Given the description of an element on the screen output the (x, y) to click on. 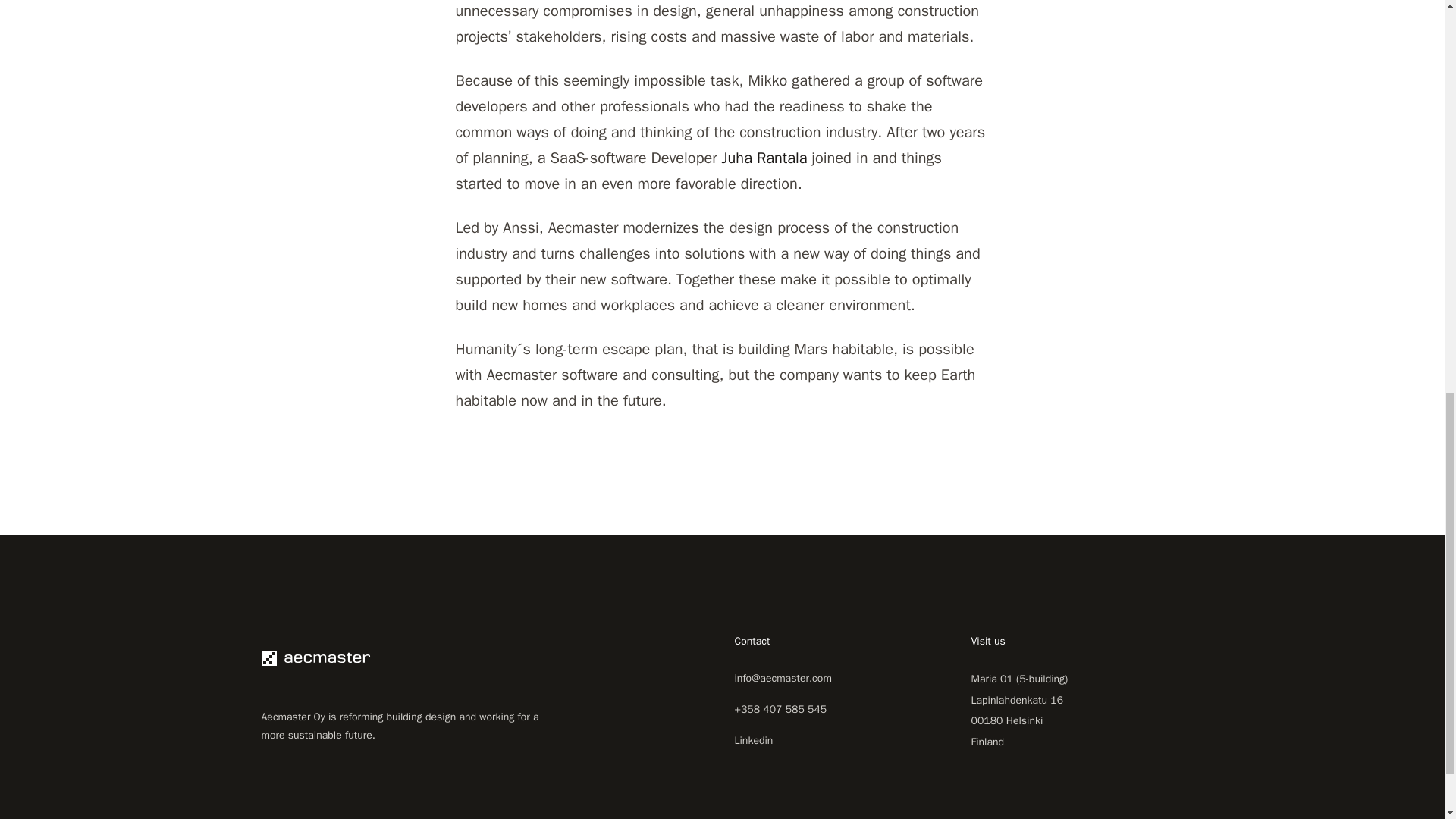
Linkedin (753, 739)
Aecmaster (408, 658)
